Given the description of an element on the screen output the (x, y) to click on. 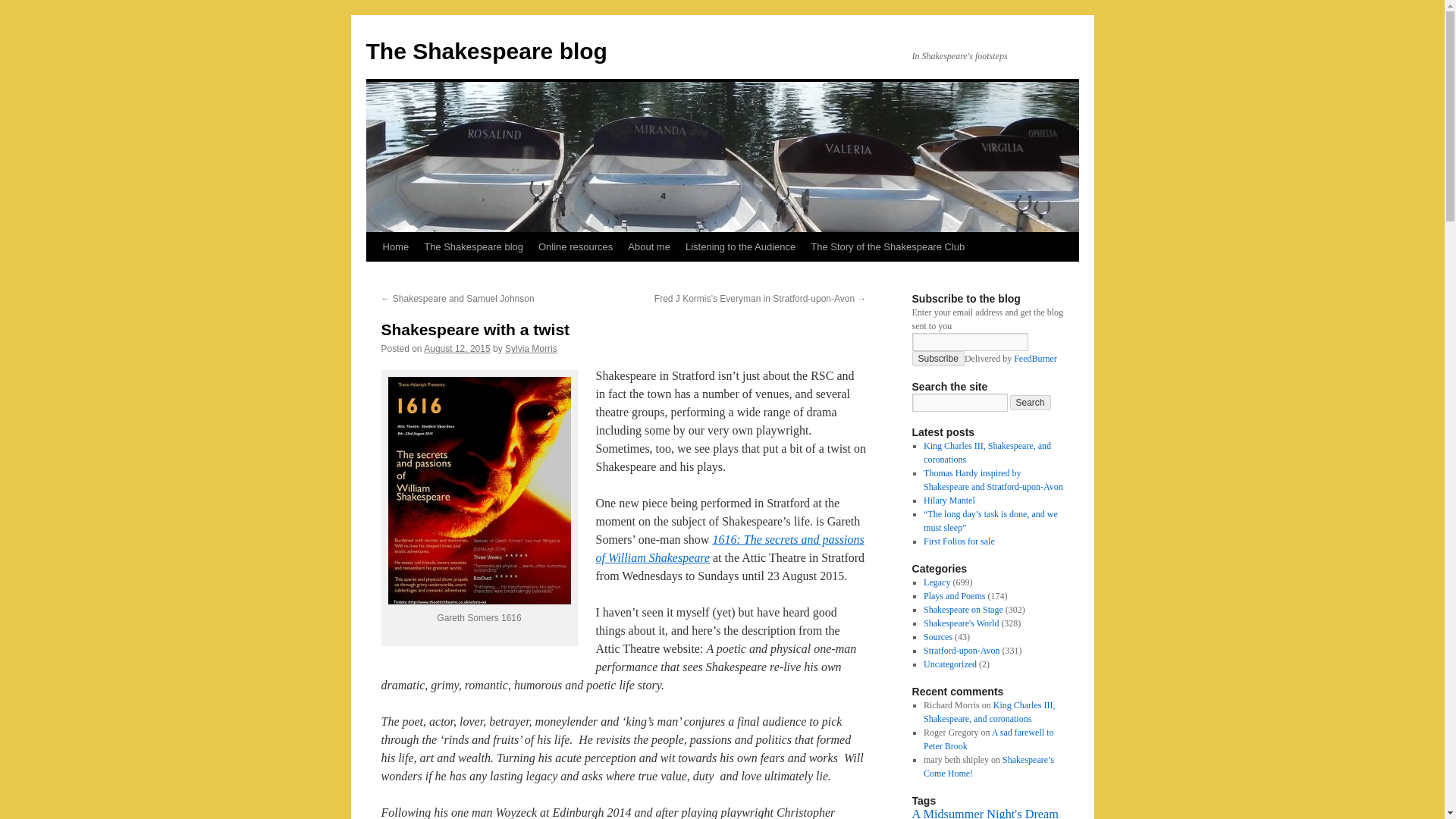
King Charles III, Shakespeare, and coronations (987, 452)
The Shakespeare blog (473, 246)
Online resources (575, 246)
About me (649, 246)
The Shakespeare blog (486, 50)
Search (1030, 402)
Subscribe (937, 358)
August 12, 2015 (456, 348)
Search (1030, 402)
1616: The secrets and passions of William Shakespeare (729, 548)
Sylvia Morris (531, 348)
FeedBurner (1035, 357)
The Story of the Shakespeare Club (887, 246)
View all posts by Sylvia Morris (531, 348)
Home (395, 246)
